Given the description of an element on the screen output the (x, y) to click on. 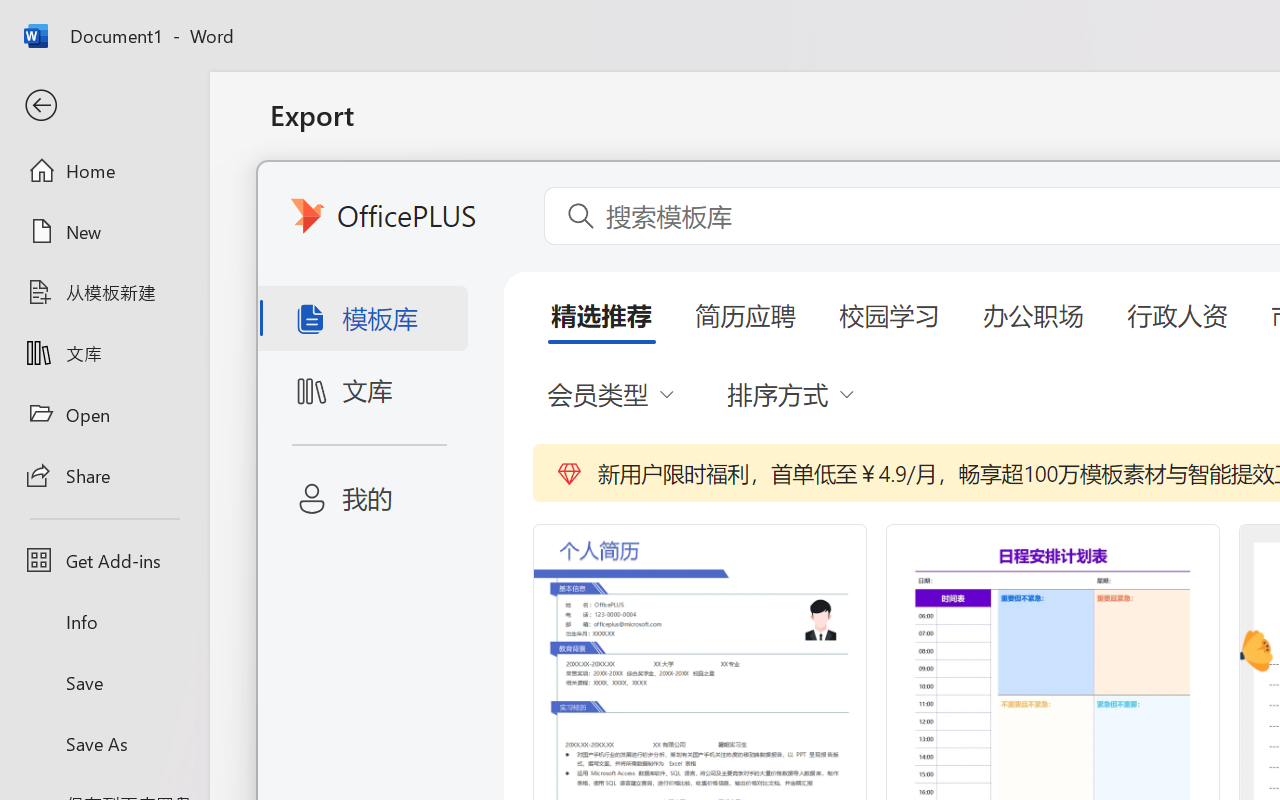
Send documents to Kindle (507, 378)
Info (104, 621)
New (104, 231)
Save As (104, 743)
